Given the description of an element on the screen output the (x, y) to click on. 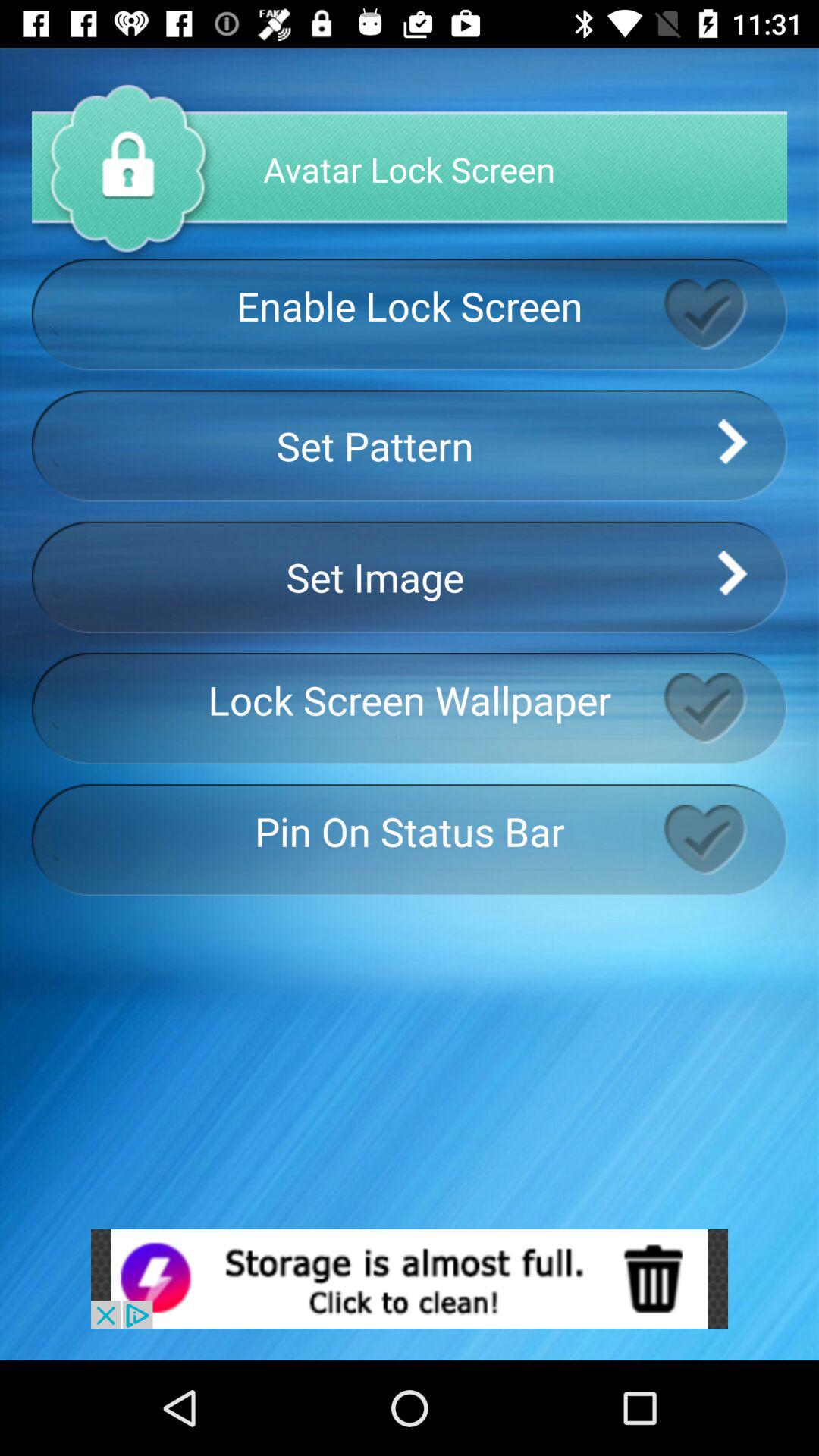
open trash (409, 1278)
